Given the description of an element on the screen output the (x, y) to click on. 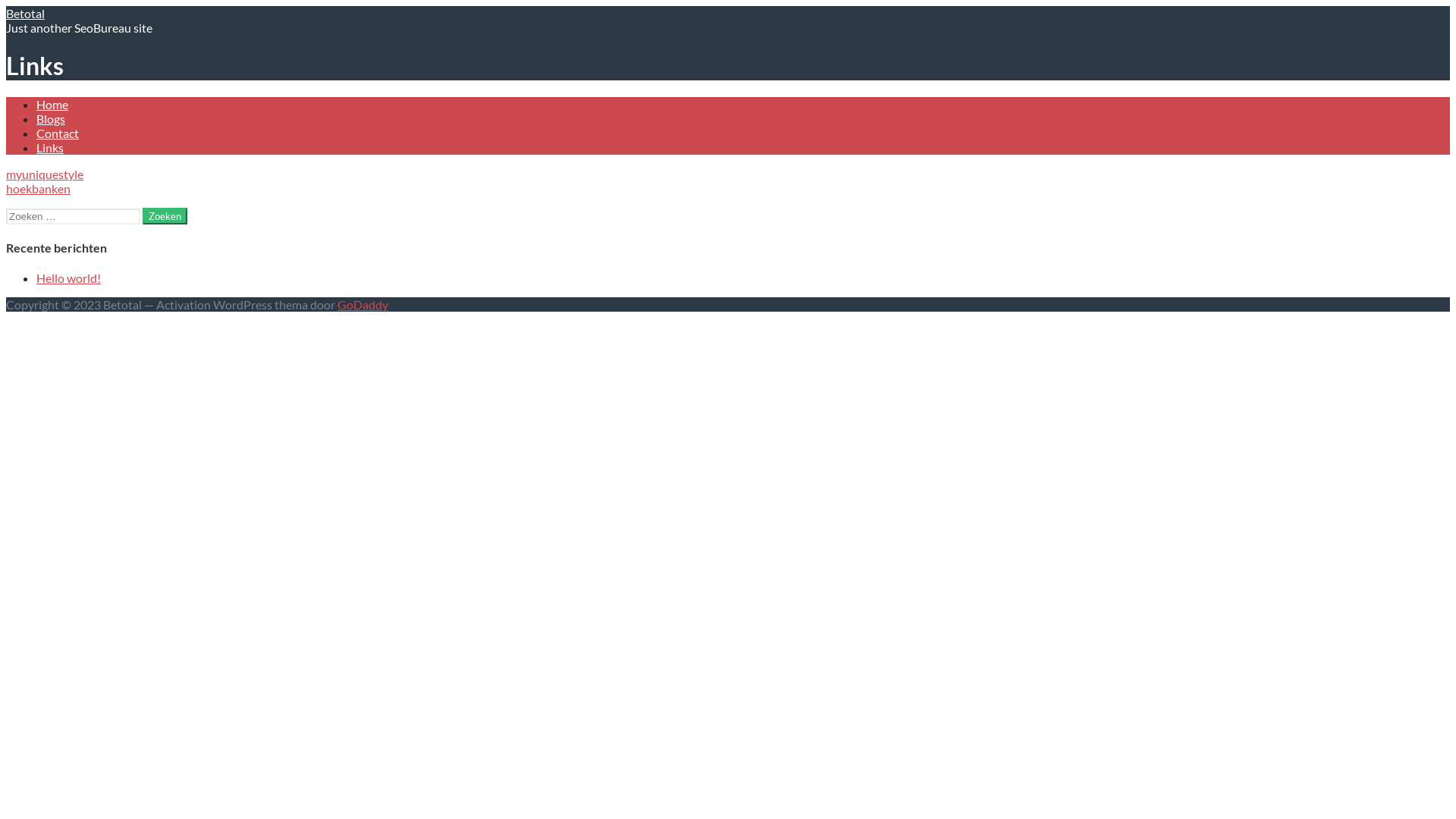
myuniquestyle Element type: text (44, 173)
Links Element type: text (49, 147)
Contact Element type: text (57, 132)
Zoeken Element type: text (164, 215)
Blogs Element type: text (50, 118)
hoekbanken Element type: text (38, 188)
Ga naar de inhoud Element type: text (5, 5)
GoDaddy Element type: text (362, 304)
Hello world! Element type: text (68, 277)
Betotal Element type: text (25, 13)
Home Element type: text (52, 104)
